Given the description of an element on the screen output the (x, y) to click on. 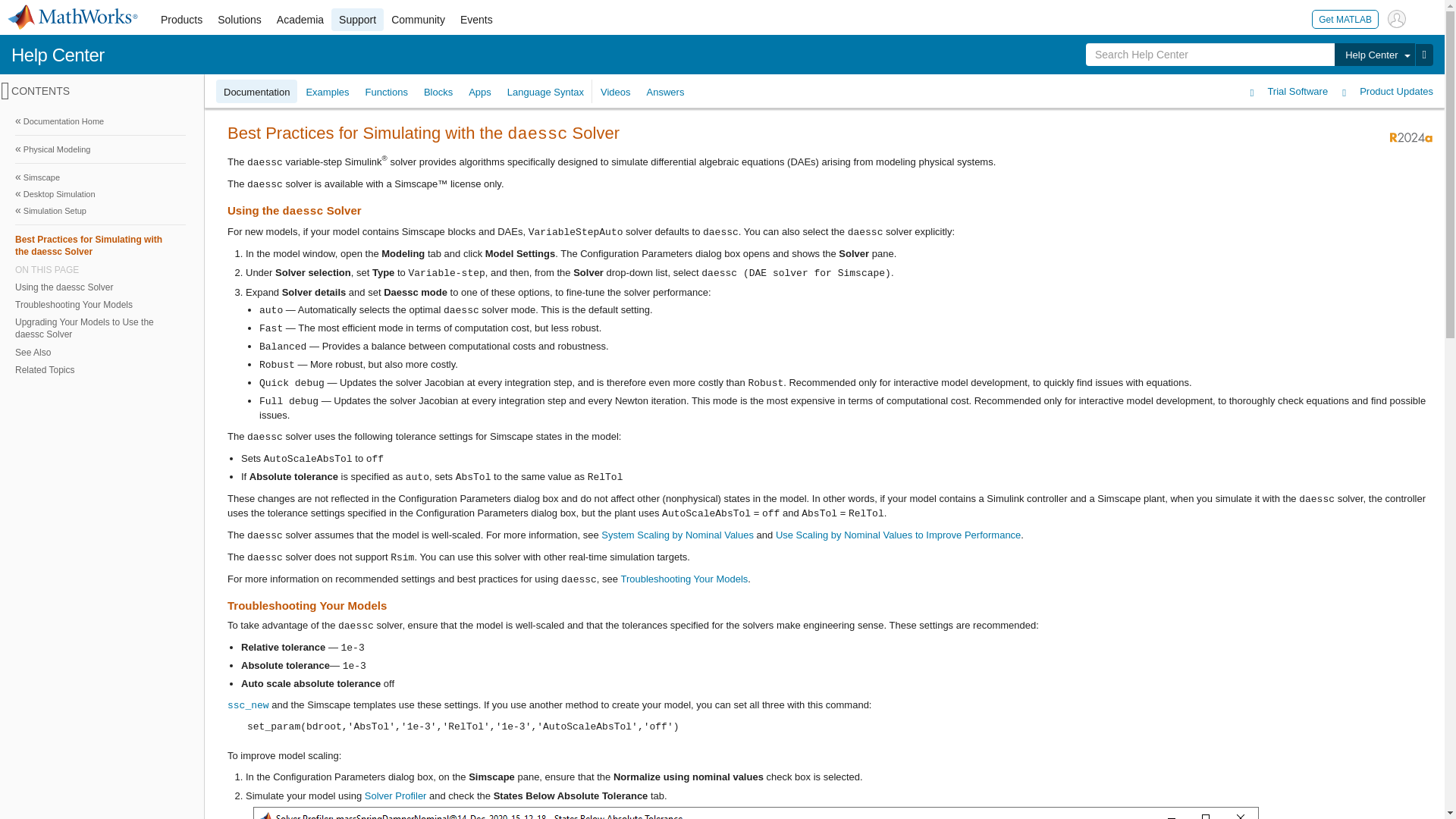
Get MATLAB (1344, 18)
Help Center (57, 54)
Products (180, 19)
Academia (300, 19)
Community (418, 19)
Physical Modeling (100, 149)
Solutions (239, 19)
Support (357, 19)
Best Practices for Simulating with the daessc Solver (100, 245)
Documentation Home (100, 121)
